Given the description of an element on the screen output the (x, y) to click on. 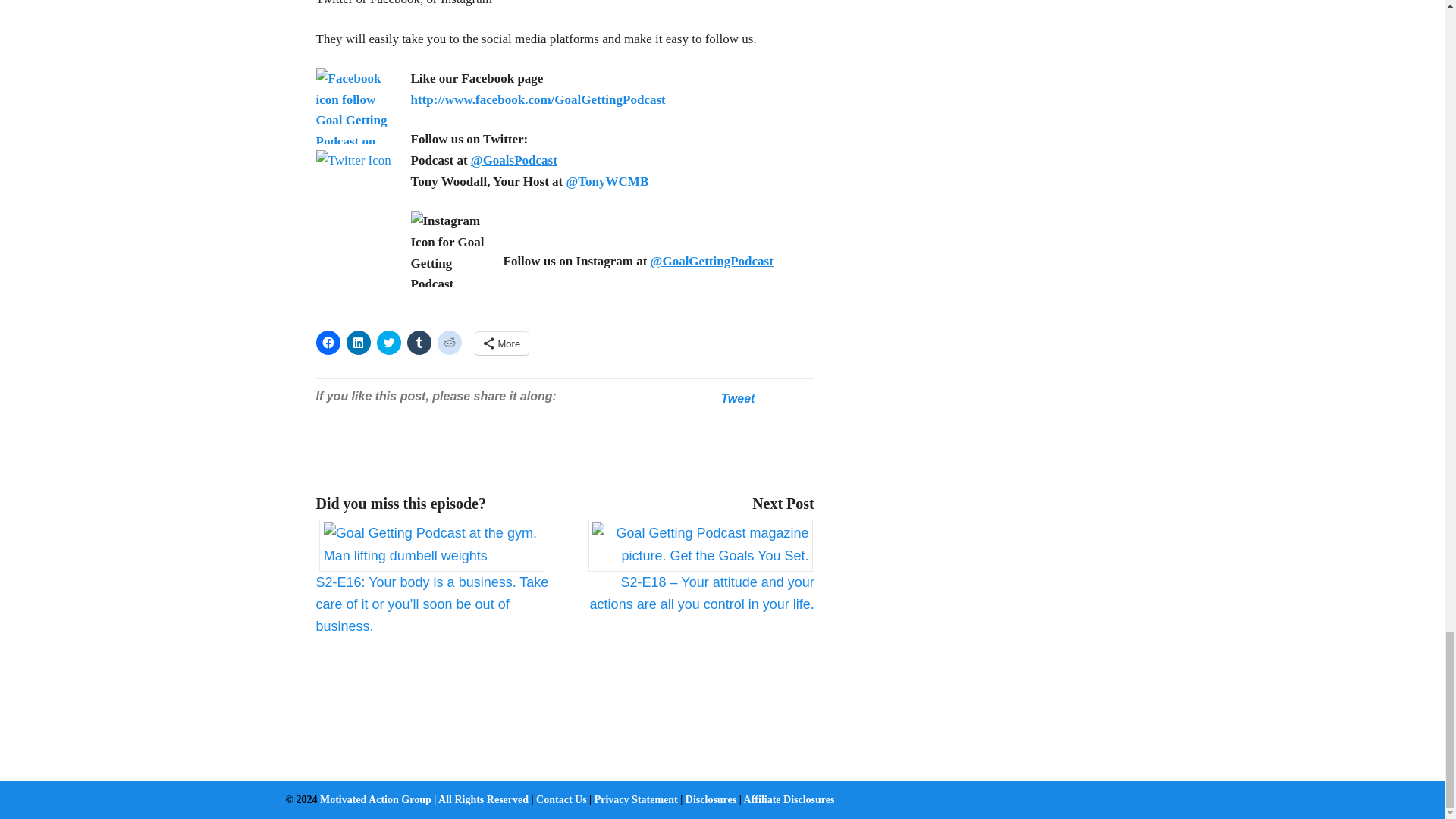
Click to share on Twitter (387, 342)
Click to share on Tumblr (418, 342)
More (501, 343)
Click to share on LinkedIn (357, 342)
Click to share on Reddit (448, 342)
Click to share on Facebook (327, 342)
